Given the description of an element on the screen output the (x, y) to click on. 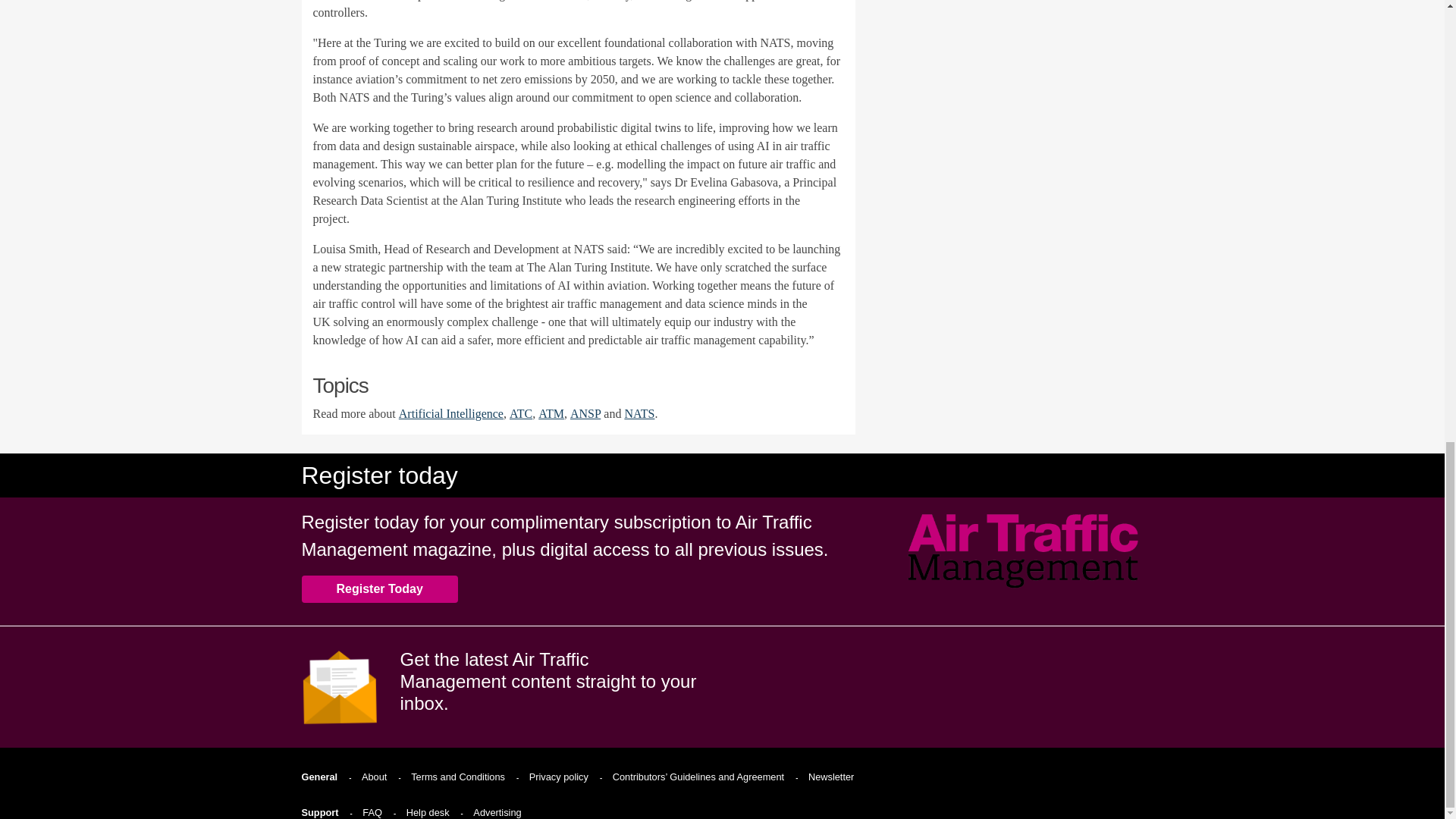
Terms and Conditions (459, 776)
Advertising (498, 812)
FAQ (374, 812)
Artificial Intelligence (450, 413)
Newsletter (832, 776)
ATM (551, 413)
ATC (520, 413)
Help desk (429, 812)
Privacy policy (560, 776)
ANSP (584, 413)
